Given the description of an element on the screen output the (x, y) to click on. 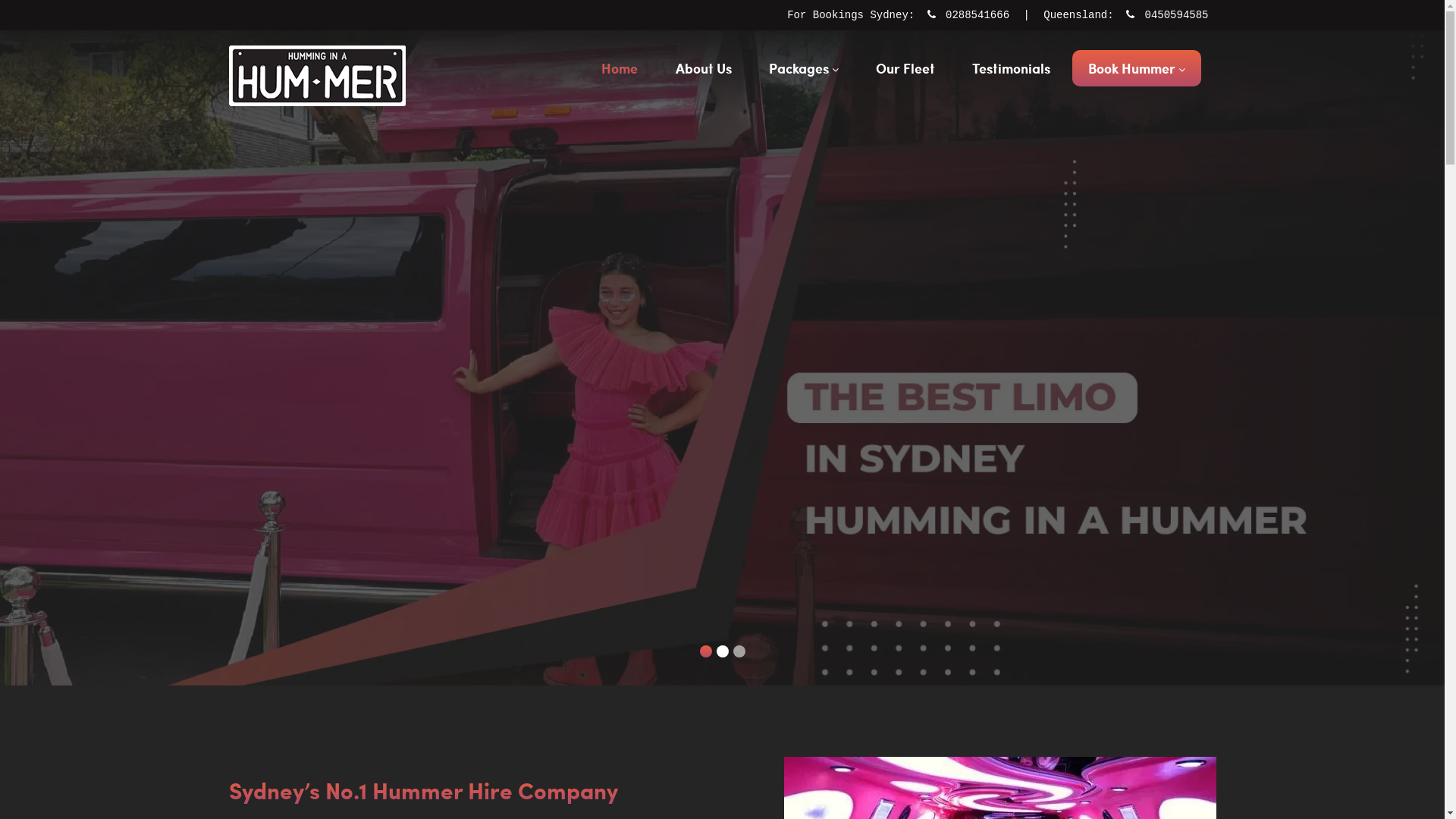
0450594585 Element type: text (1173, 15)
Packages Element type: text (803, 68)
Testimonials Element type: text (1011, 68)
0288541666 Element type: text (977, 15)
About Us Element type: text (703, 68)
Our Fleet Element type: text (904, 68)
Book Hummer Element type: text (1136, 68)
Home Element type: text (619, 68)
